Given the description of an element on the screen output the (x, y) to click on. 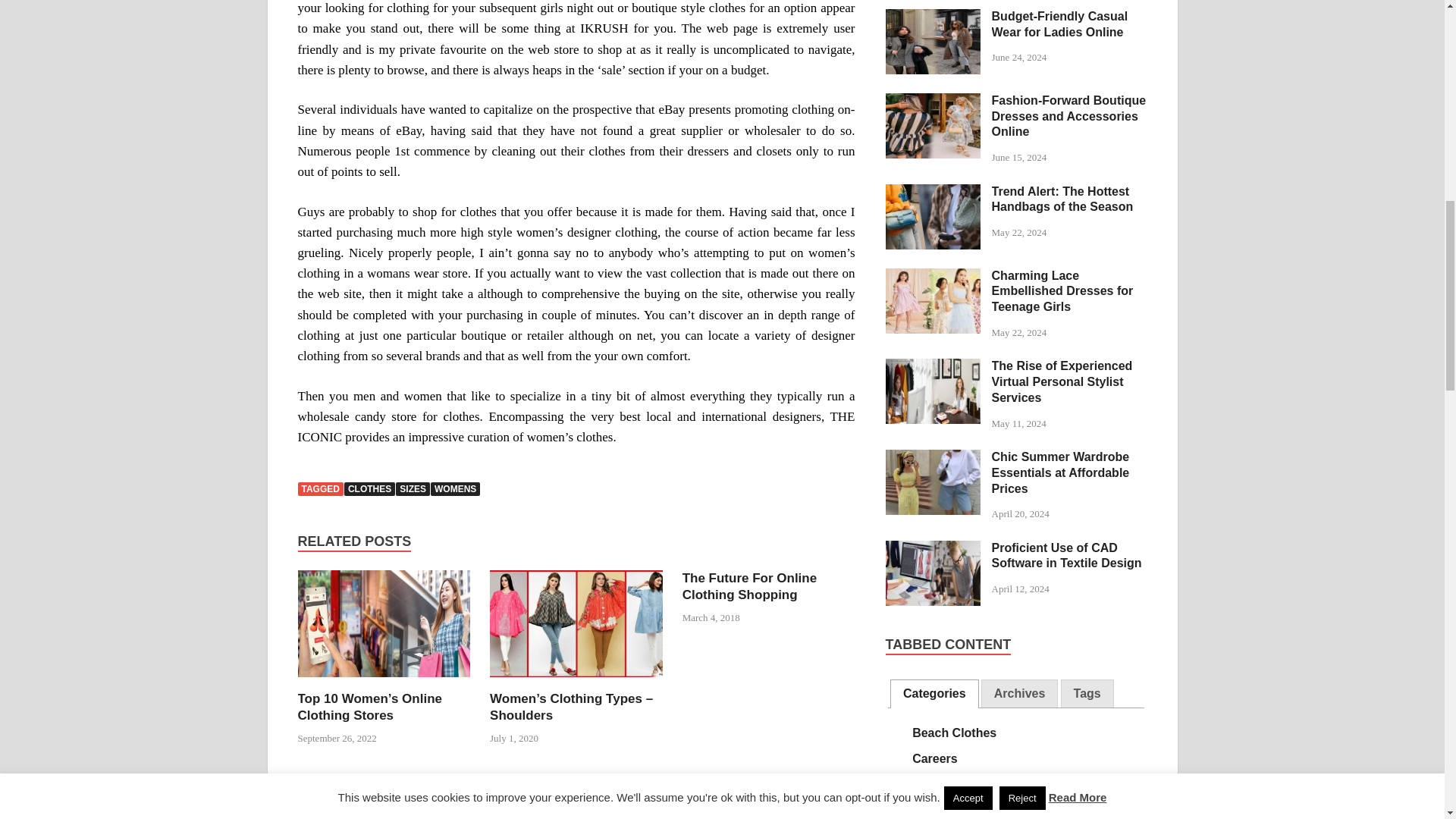
The Rise of Experienced Virtual Personal Stylist Services (932, 367)
Fashion-Forward Boutique Dresses and Accessories Online (932, 101)
Charming Lace Embellished Dresses for Teenage Girls (932, 277)
Budget-Friendly Casual Wear for Ladies Online (932, 17)
Trend Alert: The Hottest Handbags of the Season (932, 192)
The Future For Online Clothing Shopping (749, 585)
